Given the description of an element on the screen output the (x, y) to click on. 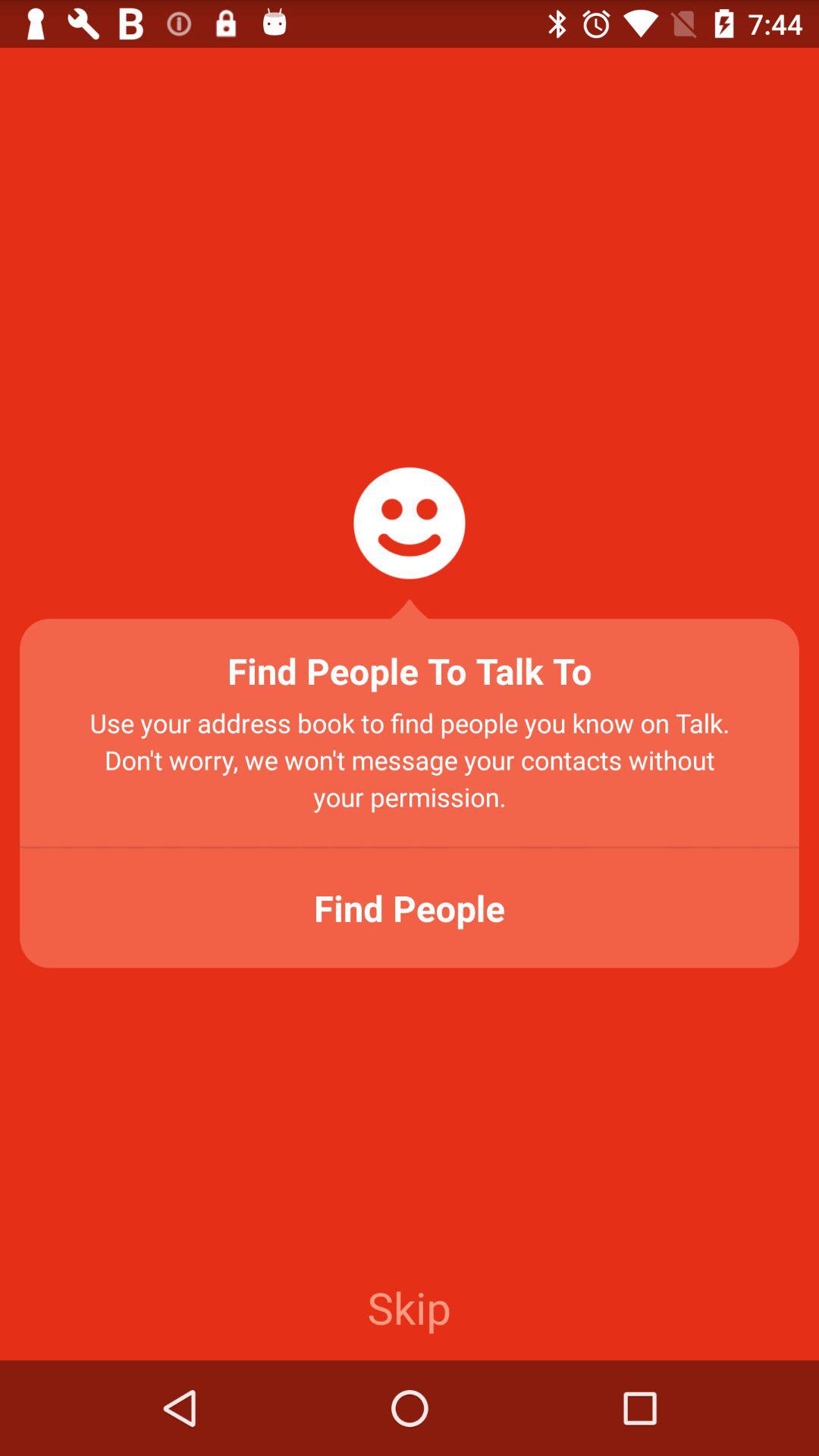
click item below find people icon (409, 1306)
